Given the description of an element on the screen output the (x, y) to click on. 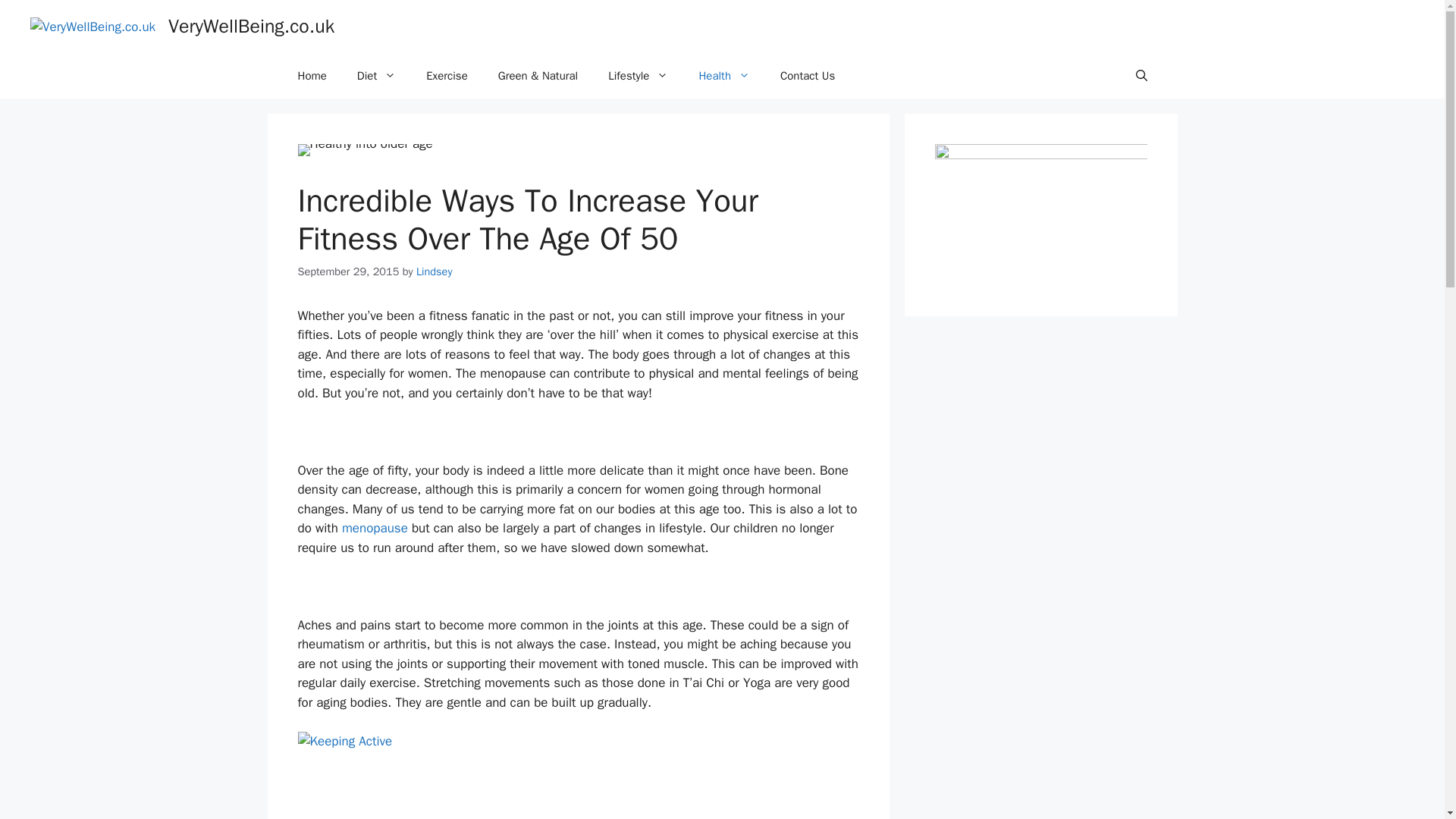
Lindsey (434, 271)
menopause (374, 528)
Diet (376, 75)
View all posts by Lindsey (434, 271)
Home (311, 75)
VeryWellBeing.co.uk (251, 25)
Lifestyle (637, 75)
Health (723, 75)
Exercise (446, 75)
Contact Us (807, 75)
